Given the description of an element on the screen output the (x, y) to click on. 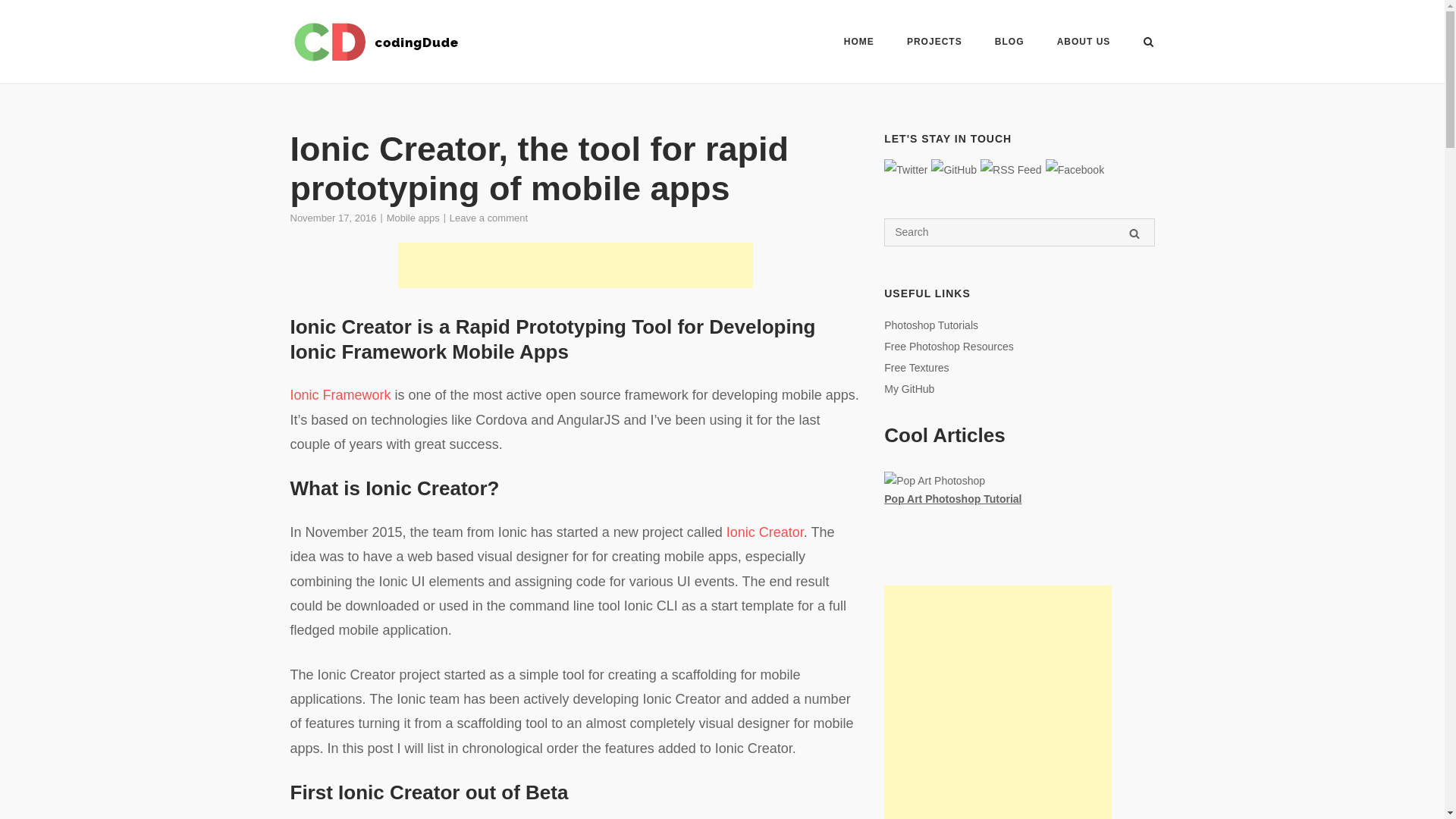
codingdudecom on GitHub (953, 169)
Connect on Facebook (1074, 169)
About coding-dude.com (1083, 44)
ABOUT US (1083, 44)
Ionic Creator (764, 531)
HOME (859, 44)
Leave a comment (488, 217)
Mobile apps (413, 217)
Follow codingdudecom on Twitter (905, 169)
BLOG (1009, 43)
